Given the description of an element on the screen output the (x, y) to click on. 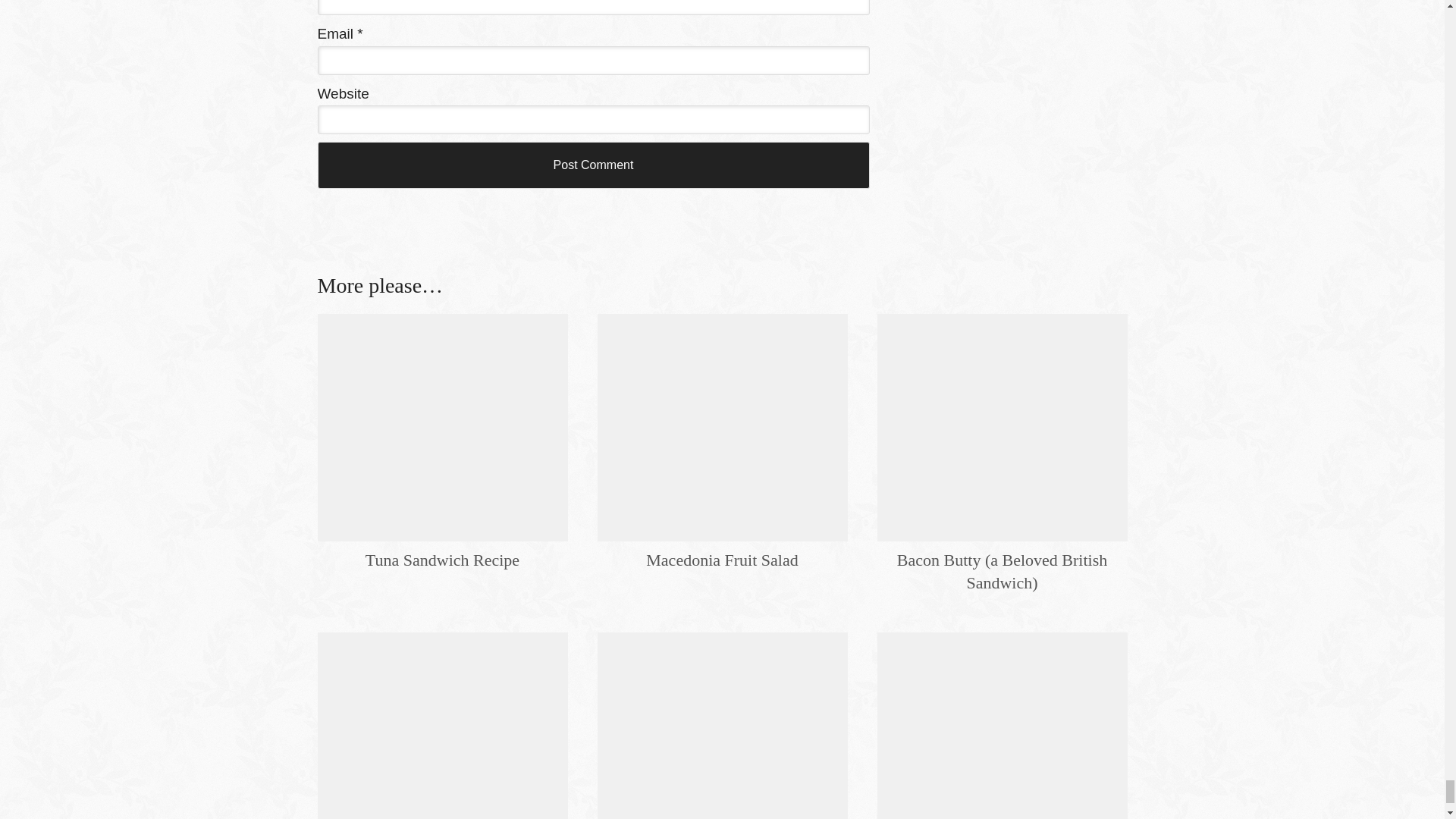
Post Comment (593, 165)
